Given the description of an element on the screen output the (x, y) to click on. 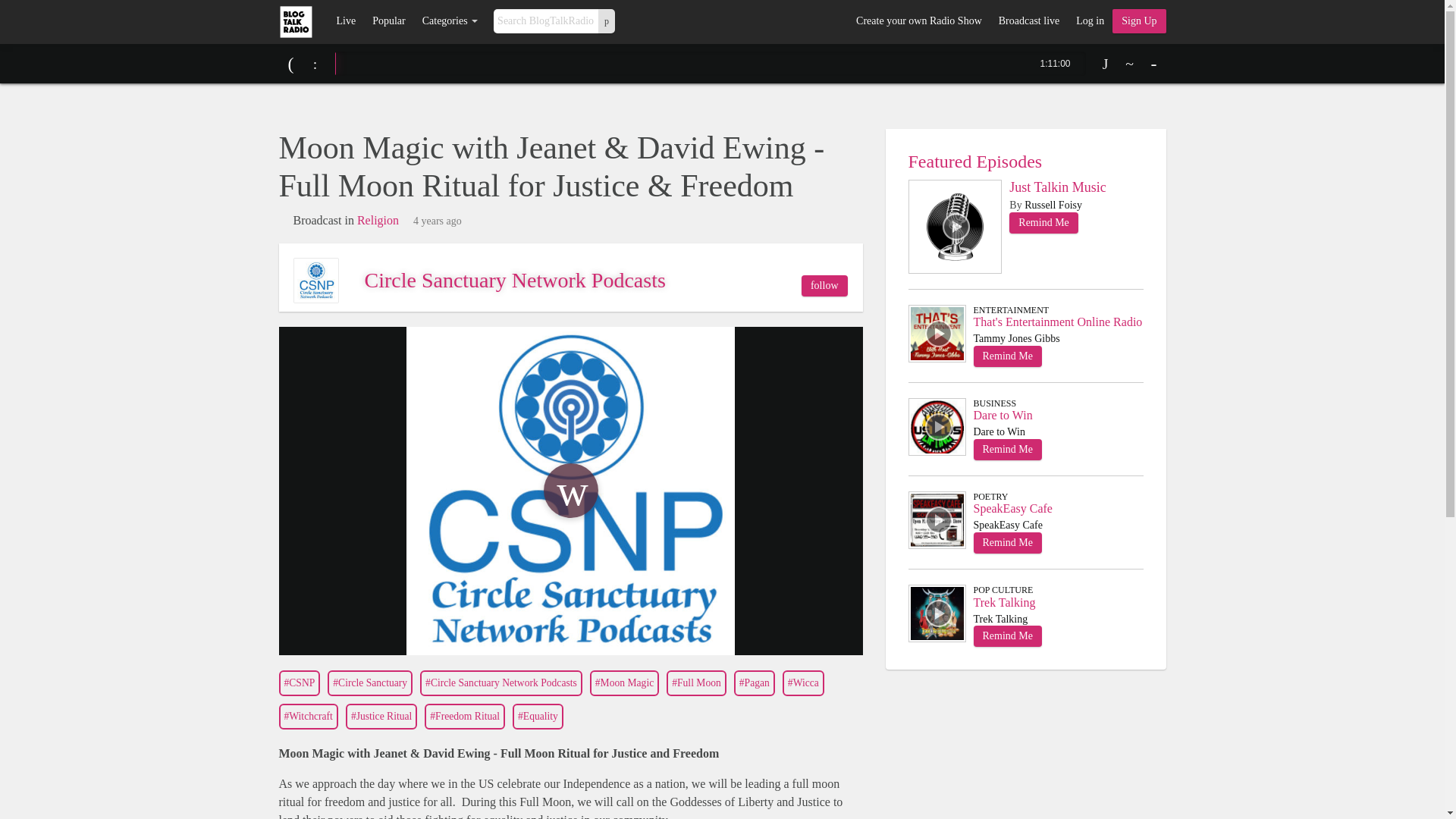
Embed this episode (1129, 63)
Live (345, 20)
Fri, July 3, 2020 08:00 am (437, 221)
Categories (449, 20)
Download this episode (1105, 63)
Follow Circle Sanctuary Network Podcasts (824, 285)
Popular (388, 20)
Sign Up (1139, 21)
Create My Talk Show (1139, 21)
Create your own Radio Show (918, 20)
Log in (1089, 20)
Broadcast live (1028, 20)
